Given the description of an element on the screen output the (x, y) to click on. 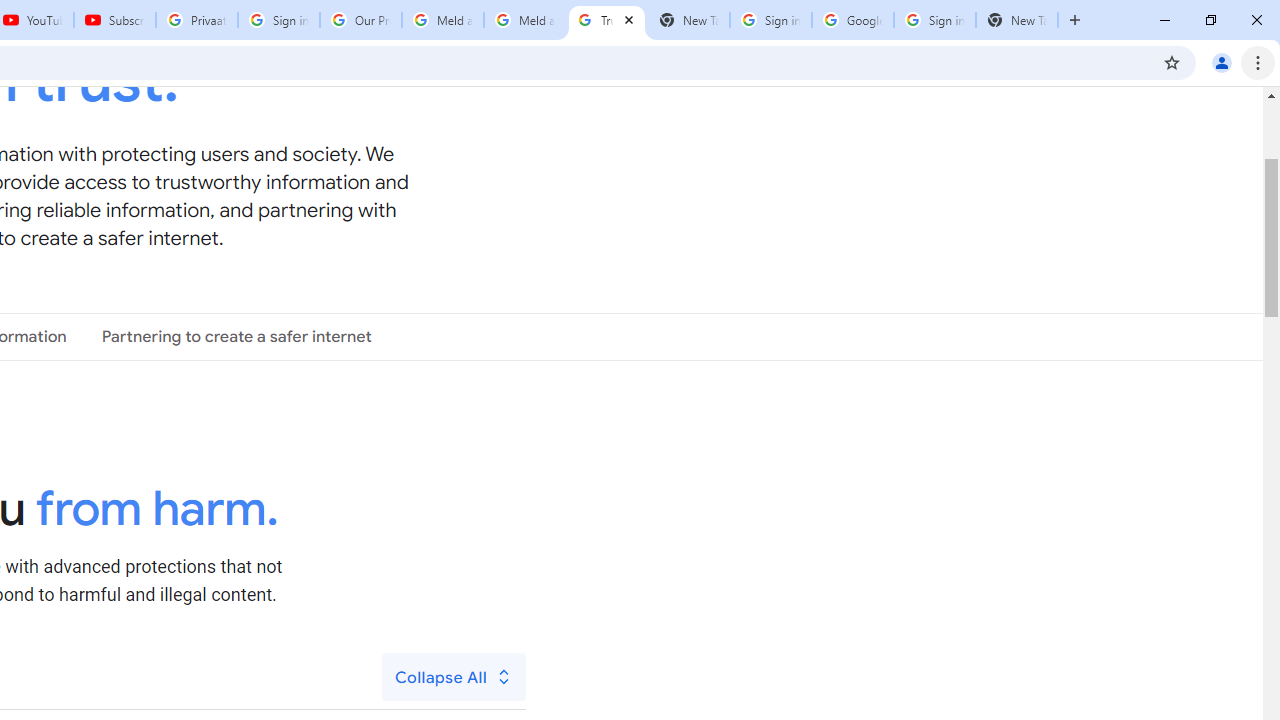
Trusted Information and Content - Google Safety Center (606, 20)
